Given the description of an element on the screen output the (x, y) to click on. 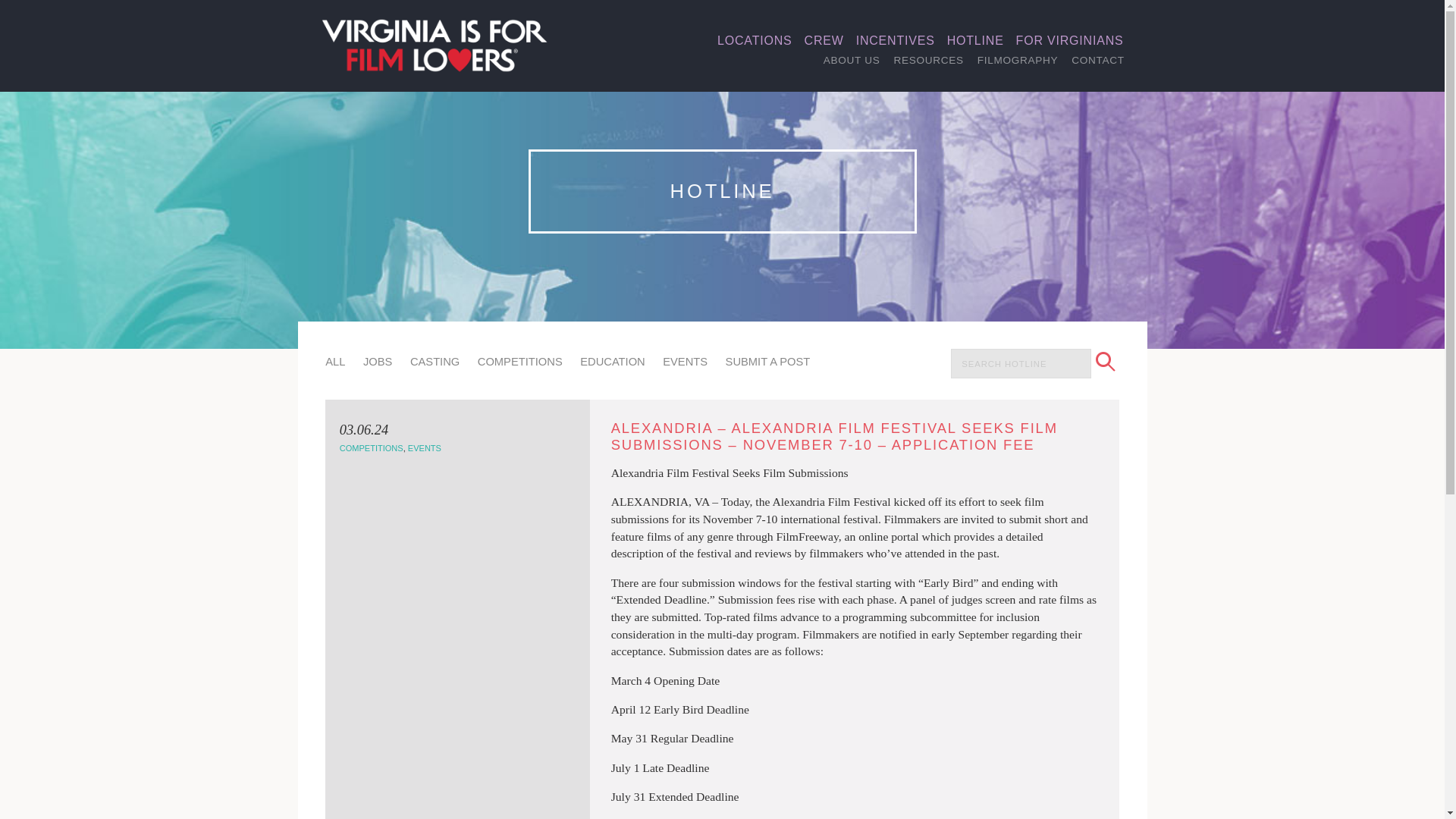
RESOURCES (928, 60)
CASTING (435, 360)
FILMOGRAPHY (1017, 60)
COMPETITIONS (519, 360)
FOR VIRGINIANS (1069, 40)
JOBS (376, 360)
COMPETITIONS (371, 447)
CREW (823, 40)
ALL (334, 360)
EVENTS (684, 360)
EVENTS (424, 447)
CONTACT (1097, 60)
EDUCATION (612, 360)
HOTLINE (975, 40)
INCENTIVES (895, 40)
